Given the description of an element on the screen output the (x, y) to click on. 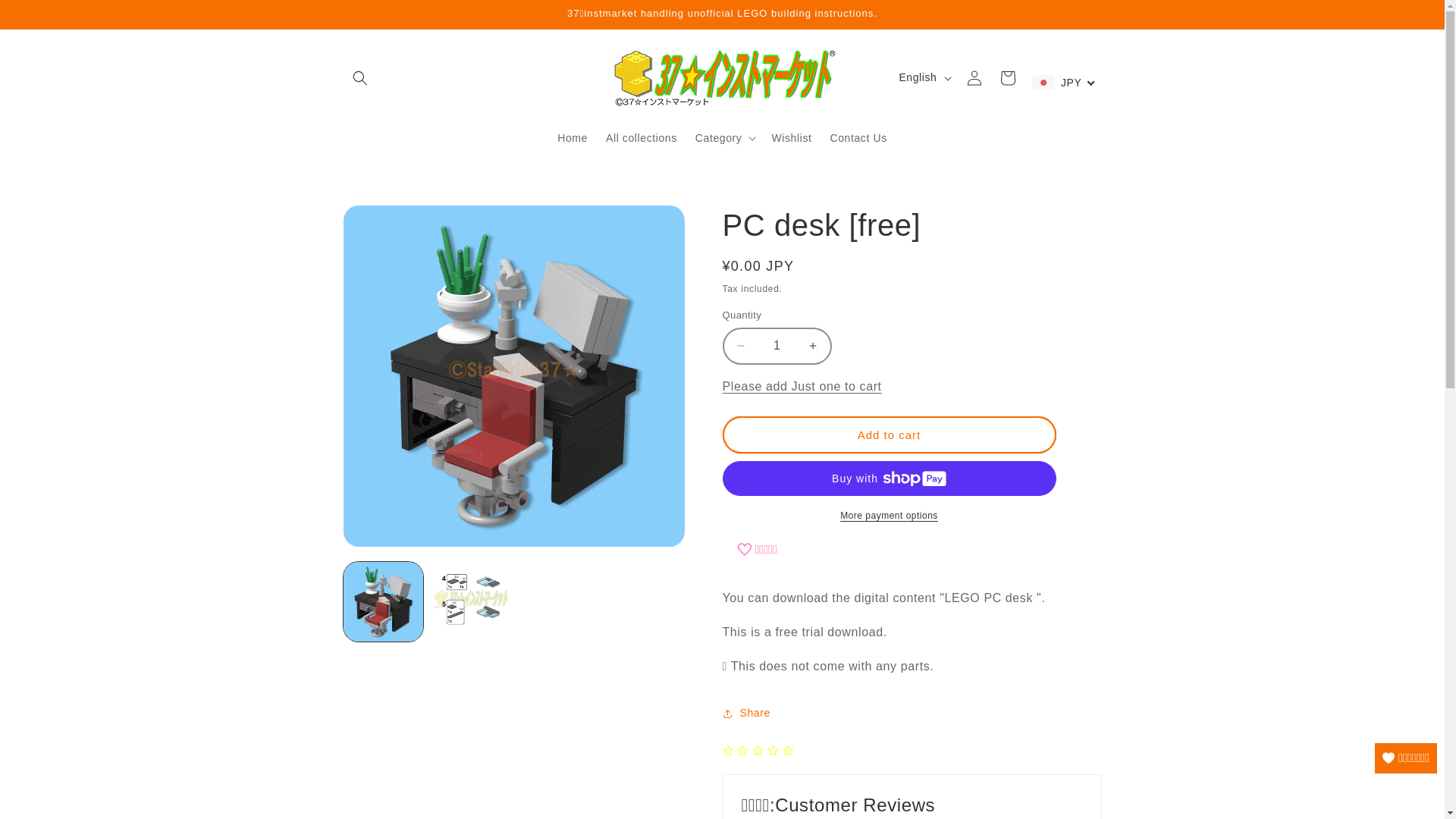
Wishlist Element type: text (791, 137)
English Element type: text (923, 77)
Contact Us Element type: text (857, 137)
Log in Element type: text (973, 77)
Skip to product information Element type: text (389, 222)
All collections Element type: text (641, 137)
Please add Just one to cart Element type: text (801, 385)
https://37instmarket.com/en/products/lego-pcdesk Element type: text (813, 771)
Home Element type: text (572, 137)
Cart Element type: text (1006, 77)
Add to cart Element type: text (888, 434)
Decrease quantity for PC desk [free] Element type: text (740, 345)
More payment options Element type: text (888, 515)
Increase quantity for PC desk [free] Element type: text (813, 345)
